Given the description of an element on the screen output the (x, y) to click on. 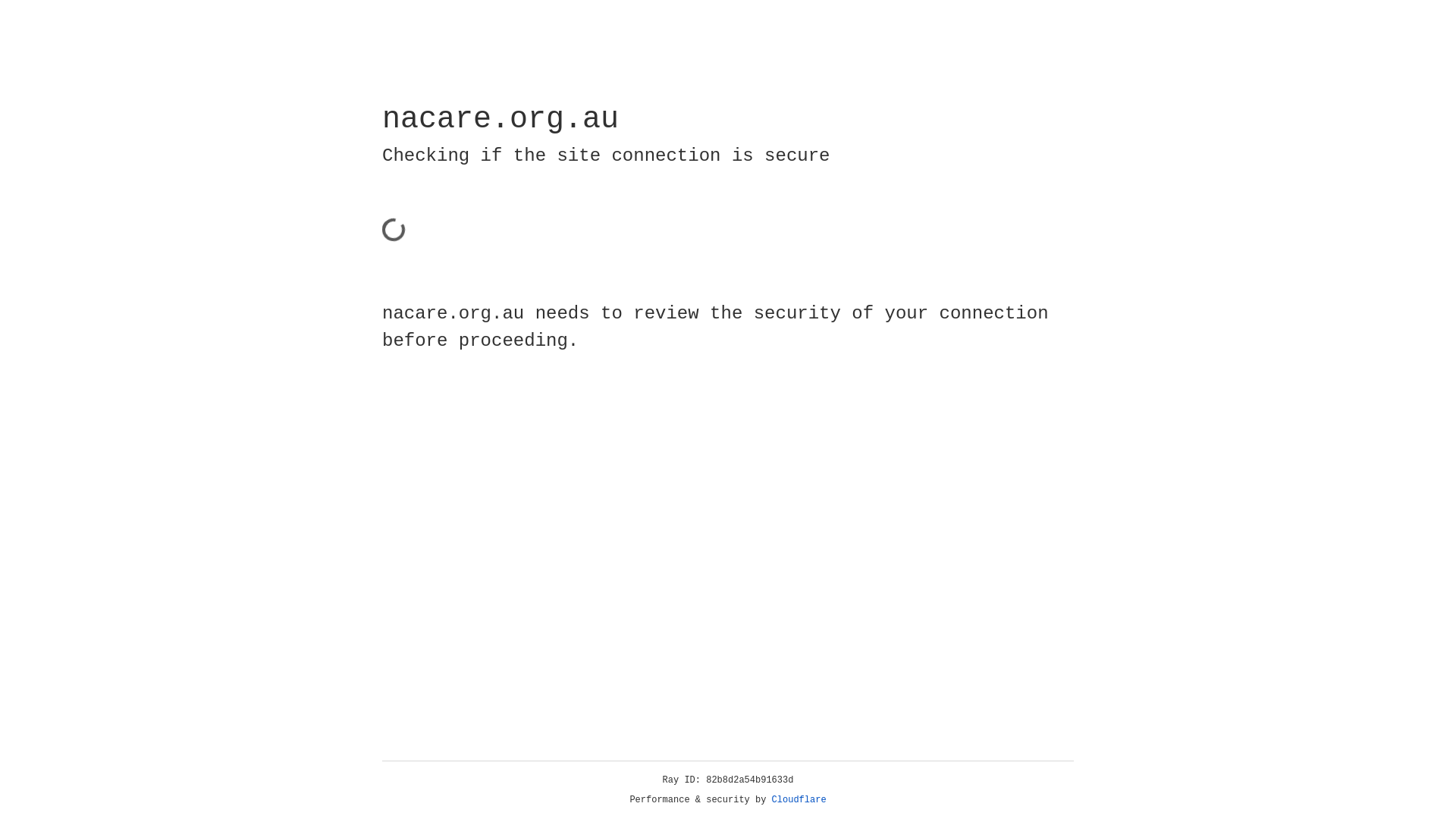
Cloudflare Element type: text (798, 799)
